Given the description of an element on the screen output the (x, y) to click on. 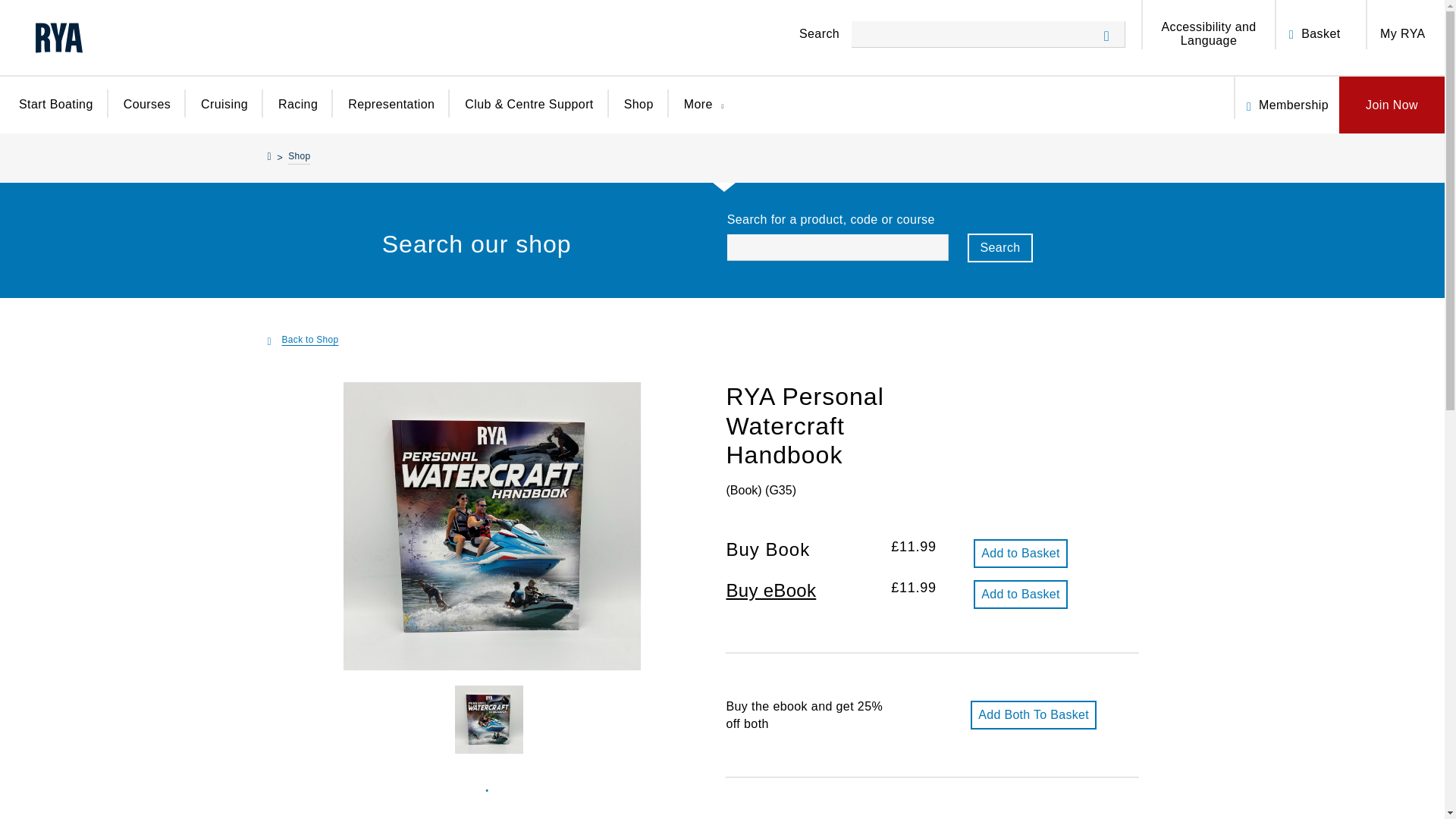
My RYA (1402, 33)
More (708, 115)
My RYA (1402, 33)
Accessibility and Language (1209, 32)
basket-link (1294, 24)
Search (1000, 247)
Basket (1320, 33)
Shop (299, 157)
Courses (146, 114)
Start Boating (55, 114)
Racing (297, 114)
Membership (1293, 105)
Cruising (223, 114)
Representation (390, 114)
Basket (1320, 33)
